Given the description of an element on the screen output the (x, y) to click on. 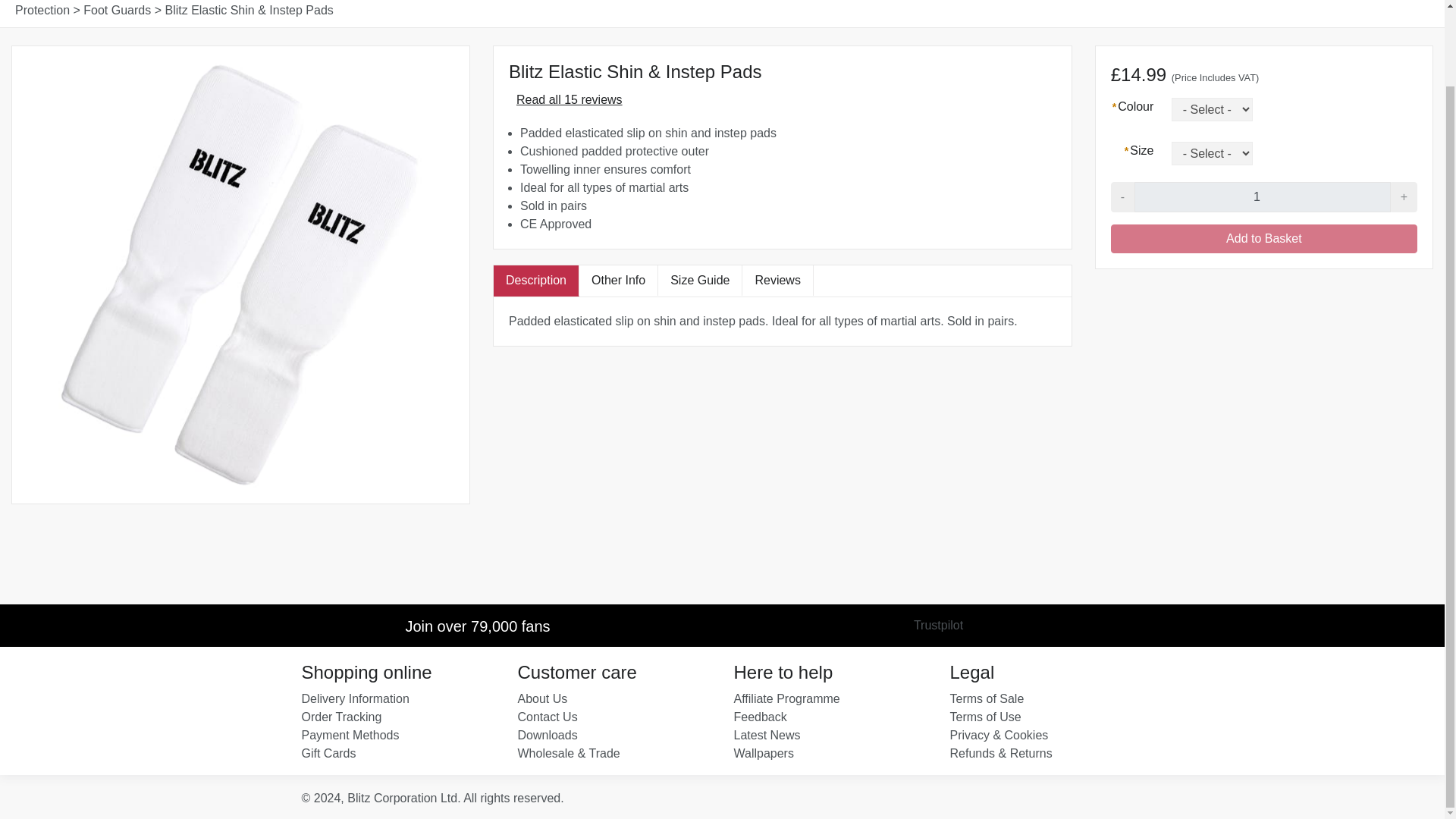
Add to Basket (1263, 238)
1 (1262, 196)
Qty (1262, 196)
